Given the description of an element on the screen output the (x, y) to click on. 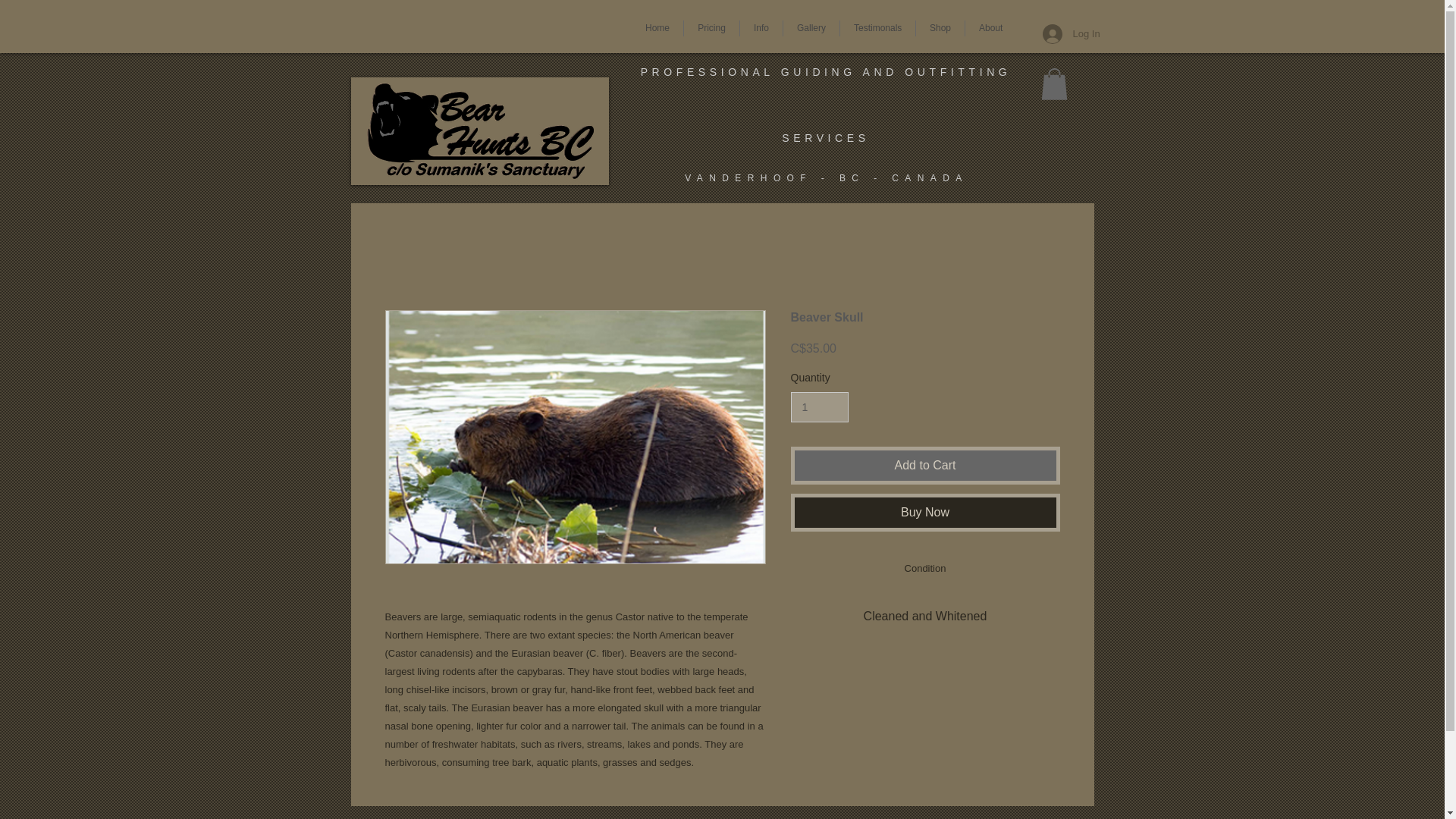
Home (656, 28)
Use right and left arrows to navigate between tabs (924, 569)
Shop (939, 28)
Buy Now (924, 512)
About (990, 28)
Info (761, 28)
Pricing (711, 28)
1 (818, 407)
Gallery (811, 28)
Testimonals (877, 28)
